Given the description of an element on the screen output the (x, y) to click on. 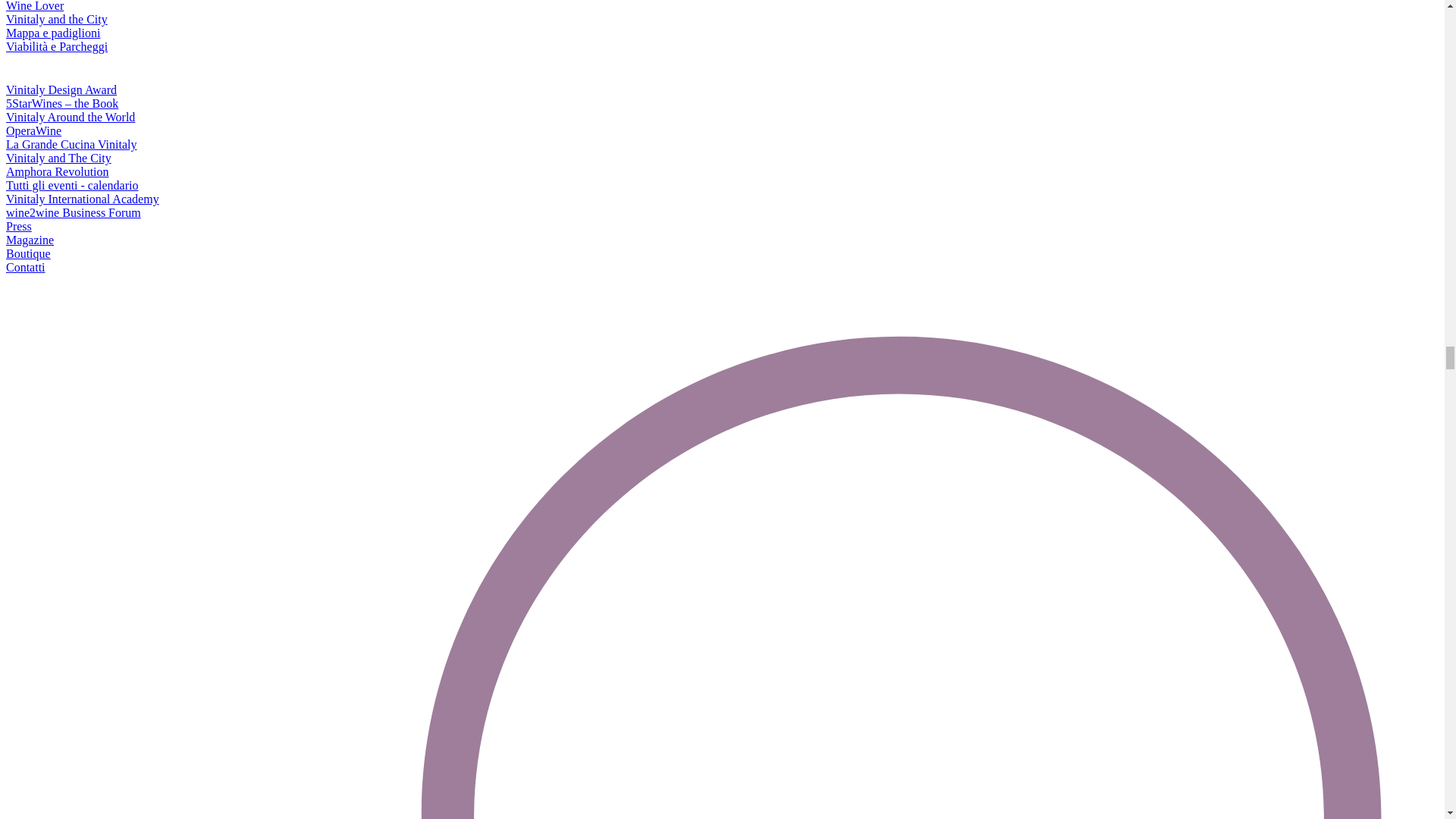
Vinitaly and the City (56, 19)
Mappa e padiglioni (52, 32)
Vinitaly Design Award (60, 89)
OperaWine (33, 130)
La Grande Cucina Vinitaly (70, 144)
Vinitaly Around the World (70, 116)
